Given the description of an element on the screen output the (x, y) to click on. 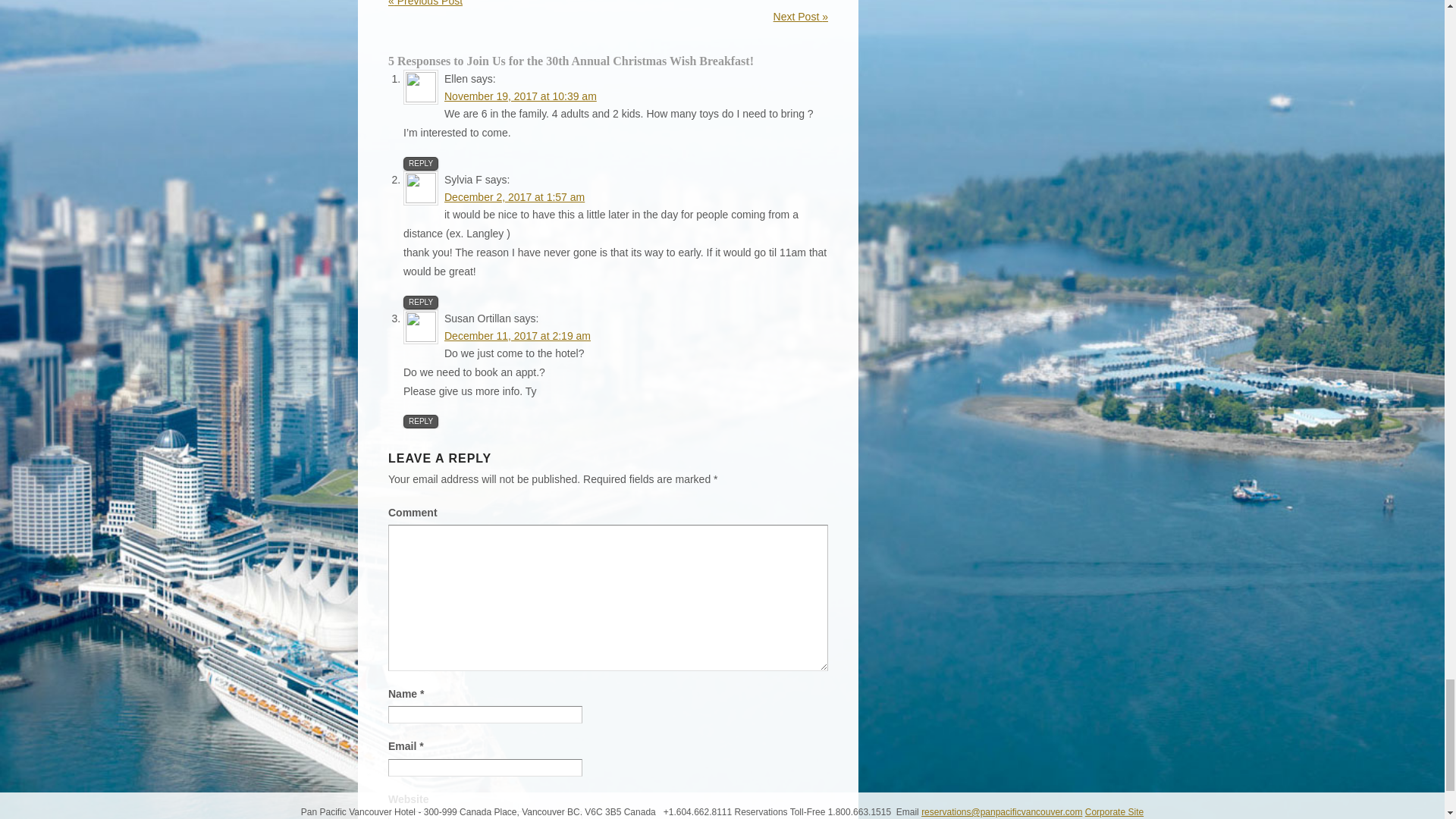
REPLY (420, 163)
November 19, 2017 at 10:39 am (520, 96)
